Given the description of an element on the screen output the (x, y) to click on. 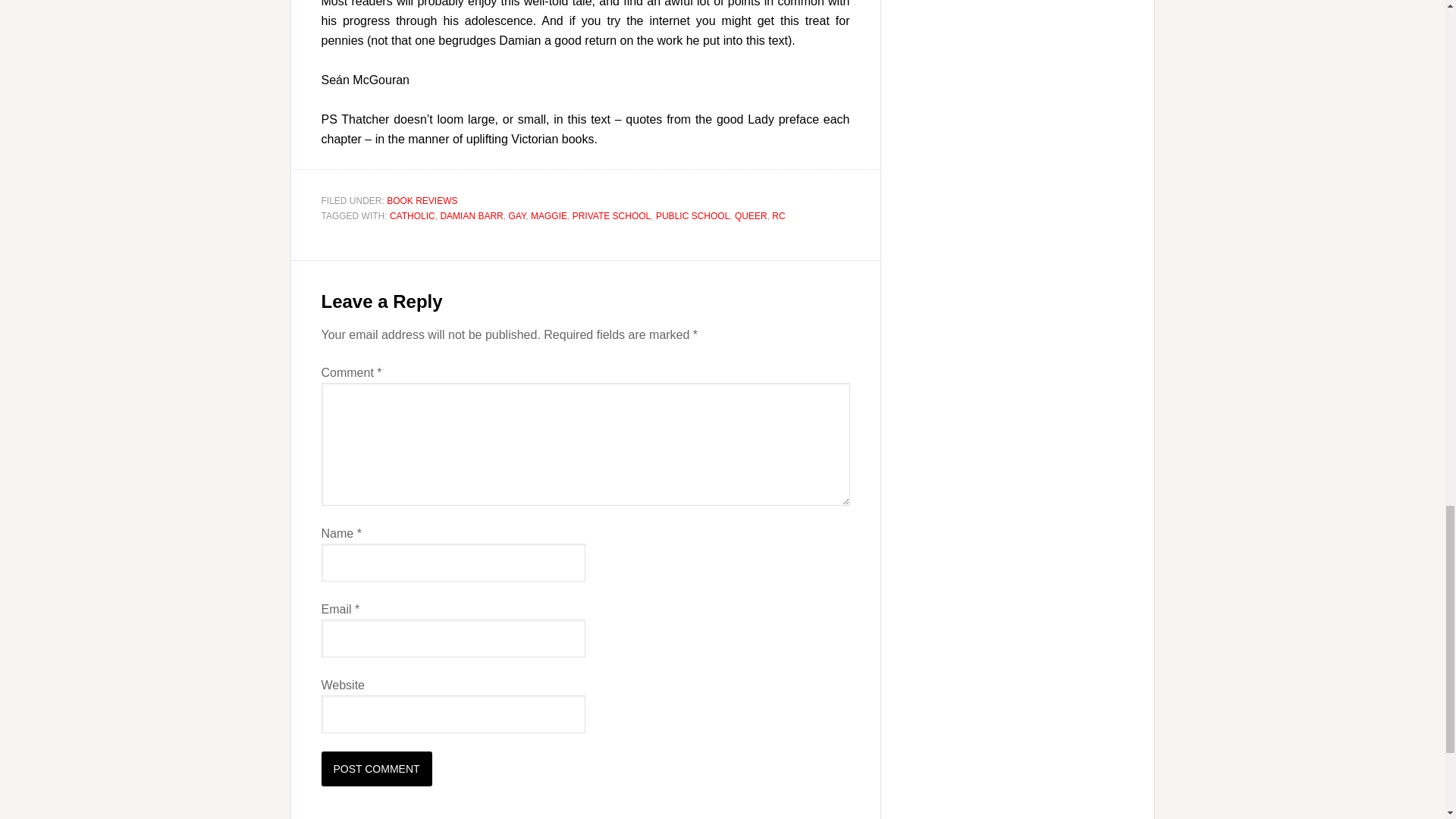
QUEER (751, 215)
Post Comment (376, 768)
Post Comment (376, 768)
DAMIAN BARR (470, 215)
PRIVATE SCHOOL (611, 215)
CATHOLIC (412, 215)
MAGGIE (549, 215)
GAY (516, 215)
PUBLIC SCHOOL (692, 215)
RC (777, 215)
